Given the description of an element on the screen output the (x, y) to click on. 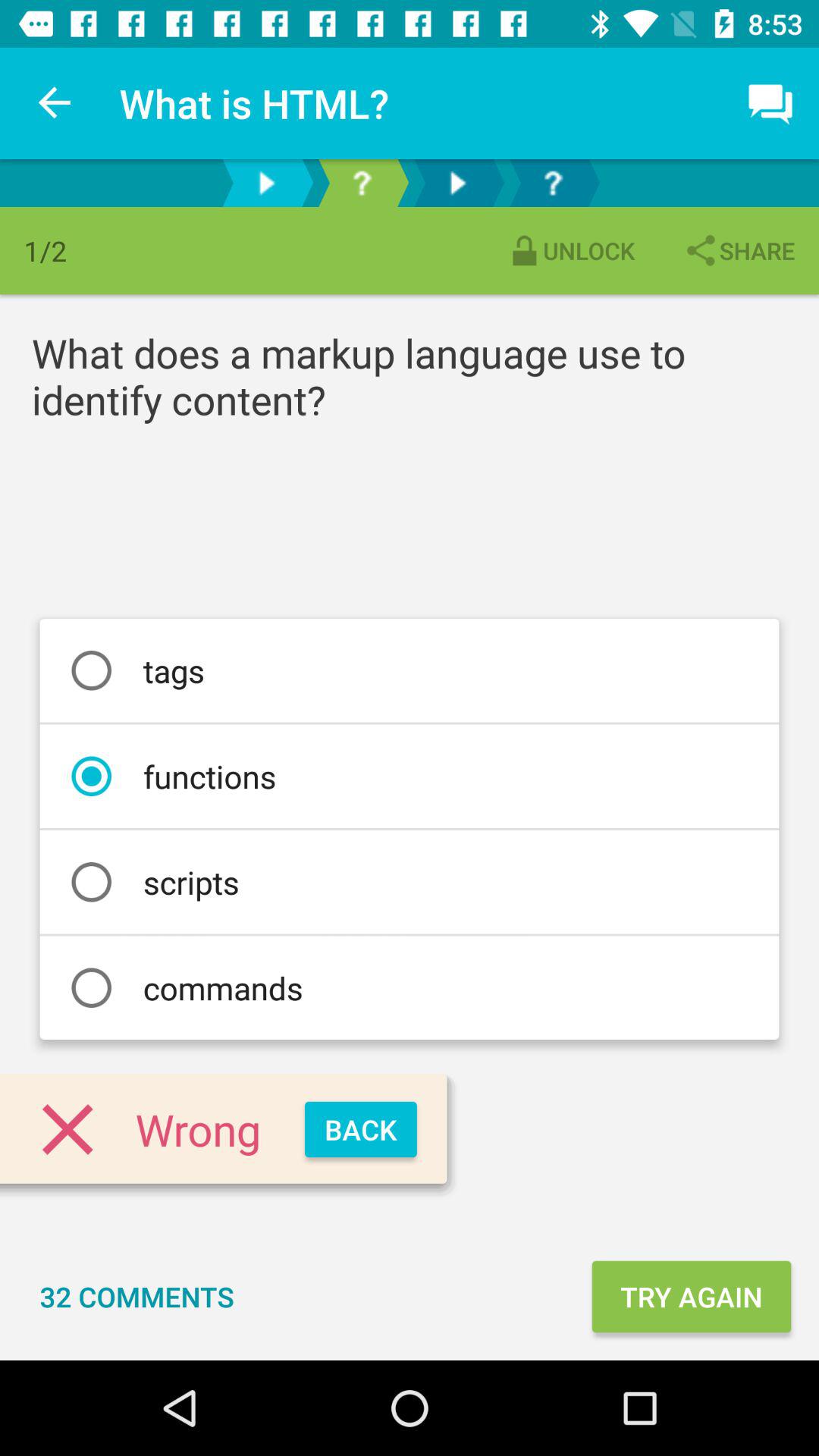
jump to the 32 comments icon (136, 1296)
